Given the description of an element on the screen output the (x, y) to click on. 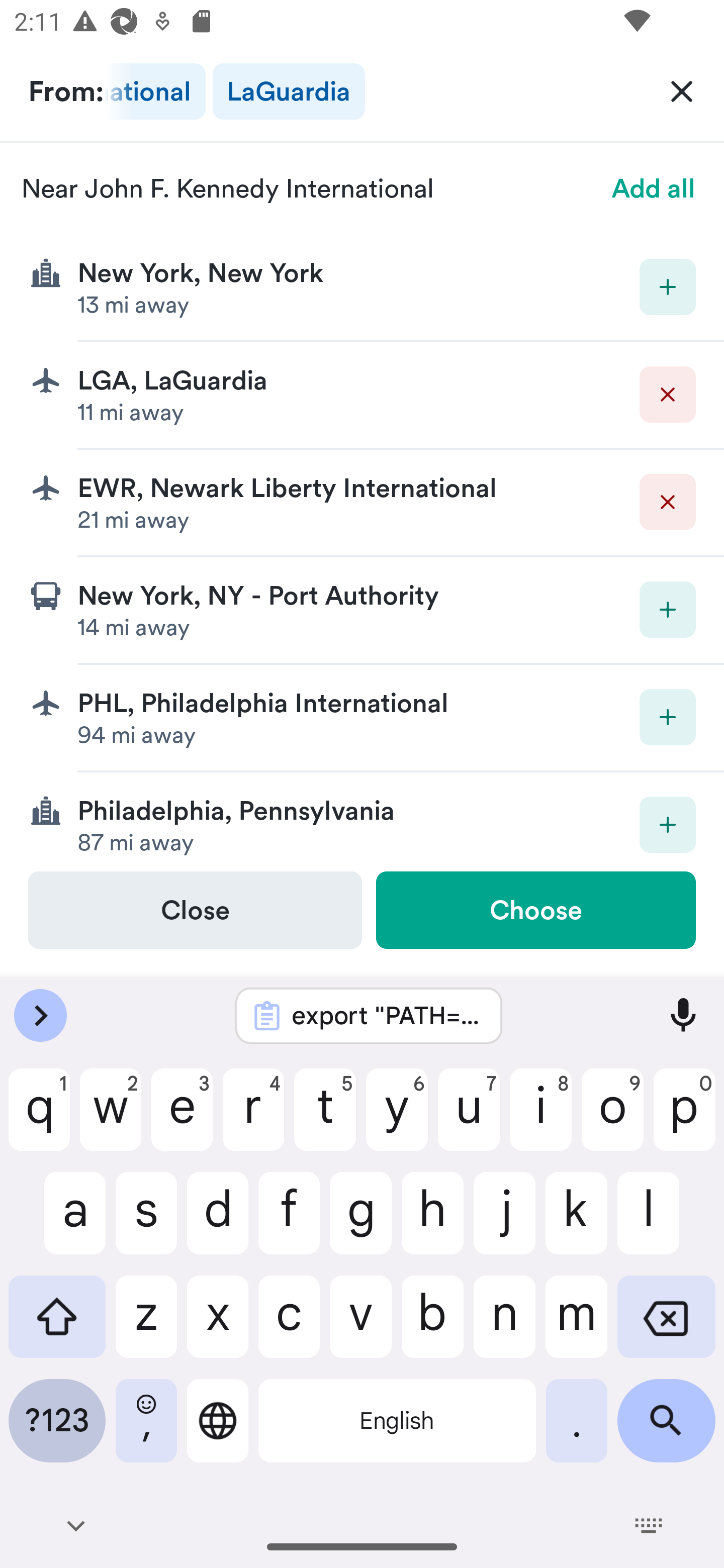
Clear All (681, 90)
Newark Liberty International (154, 91)
LaGuardia (288, 91)
Add all (653, 187)
Add destination New York, New York 13 mi away (362, 287)
Add destination (667, 286)
Delete LGA, LaGuardia 11 mi away (362, 395)
Delete (667, 394)
Delete (667, 501)
Add destination (667, 609)
Add destination (667, 716)
Add destination (667, 824)
Close (195, 909)
Choose (535, 909)
